Given the description of an element on the screen output the (x, y) to click on. 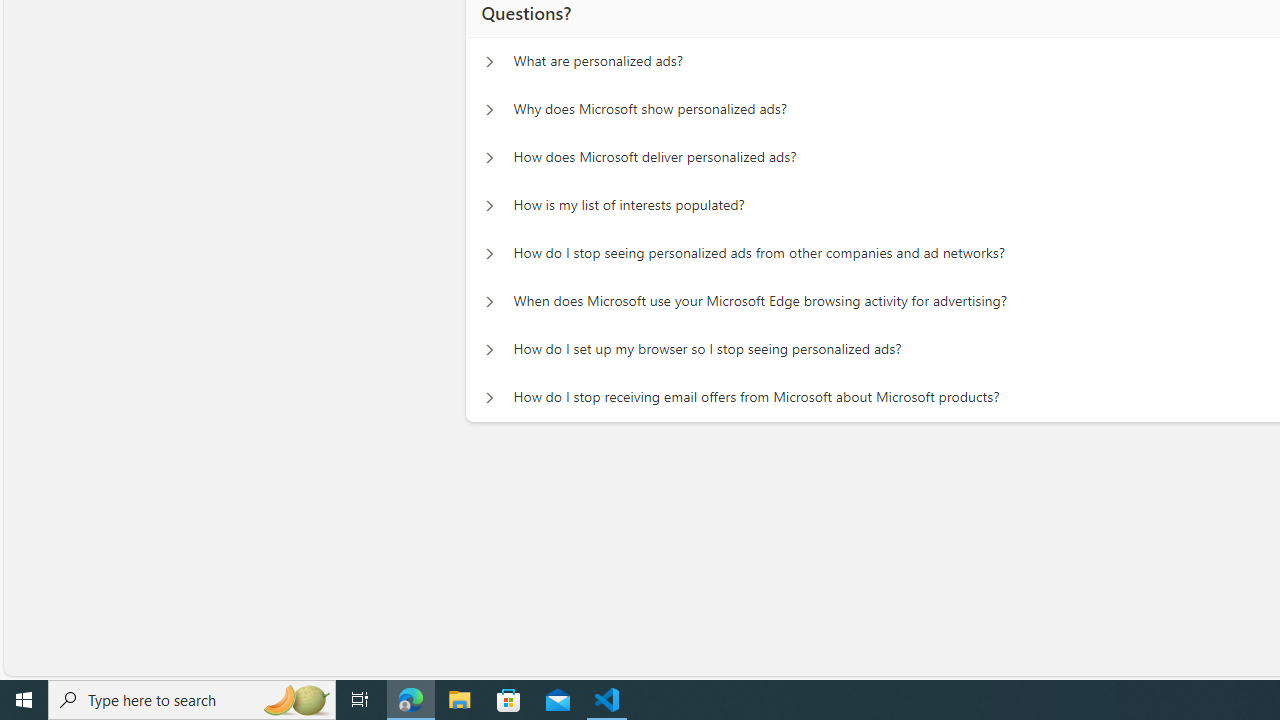
Questions? How does Microsoft deliver personalized ads? (489, 157)
Questions? Why does Microsoft show personalized ads? (489, 110)
Questions? What are personalized ads? (489, 62)
Questions? How is my list of interests populated? (489, 206)
